Given the description of an element on the screen output the (x, y) to click on. 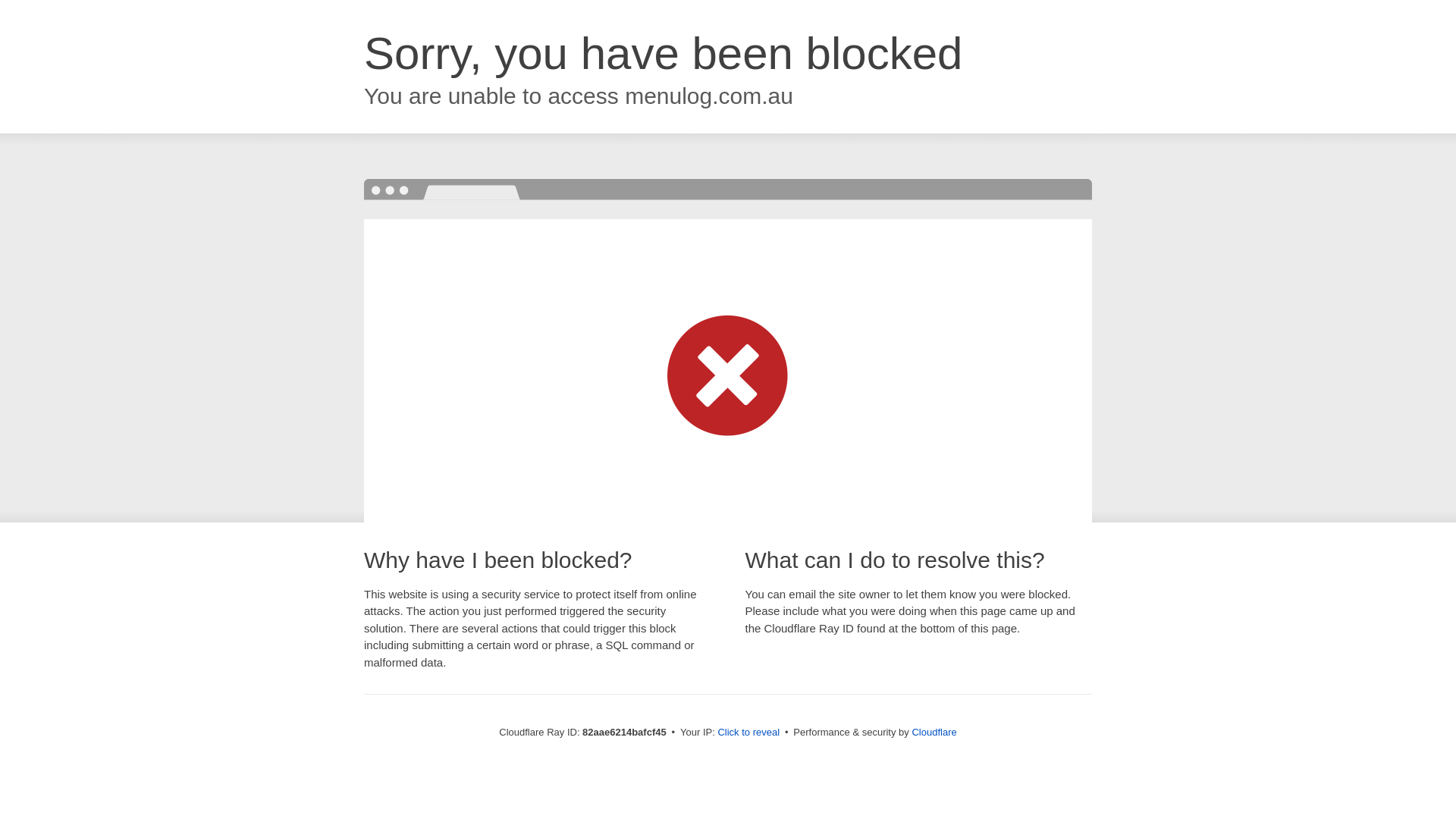
Click to reveal Element type: text (748, 732)
Cloudflare Element type: text (933, 731)
